Given the description of an element on the screen output the (x, y) to click on. 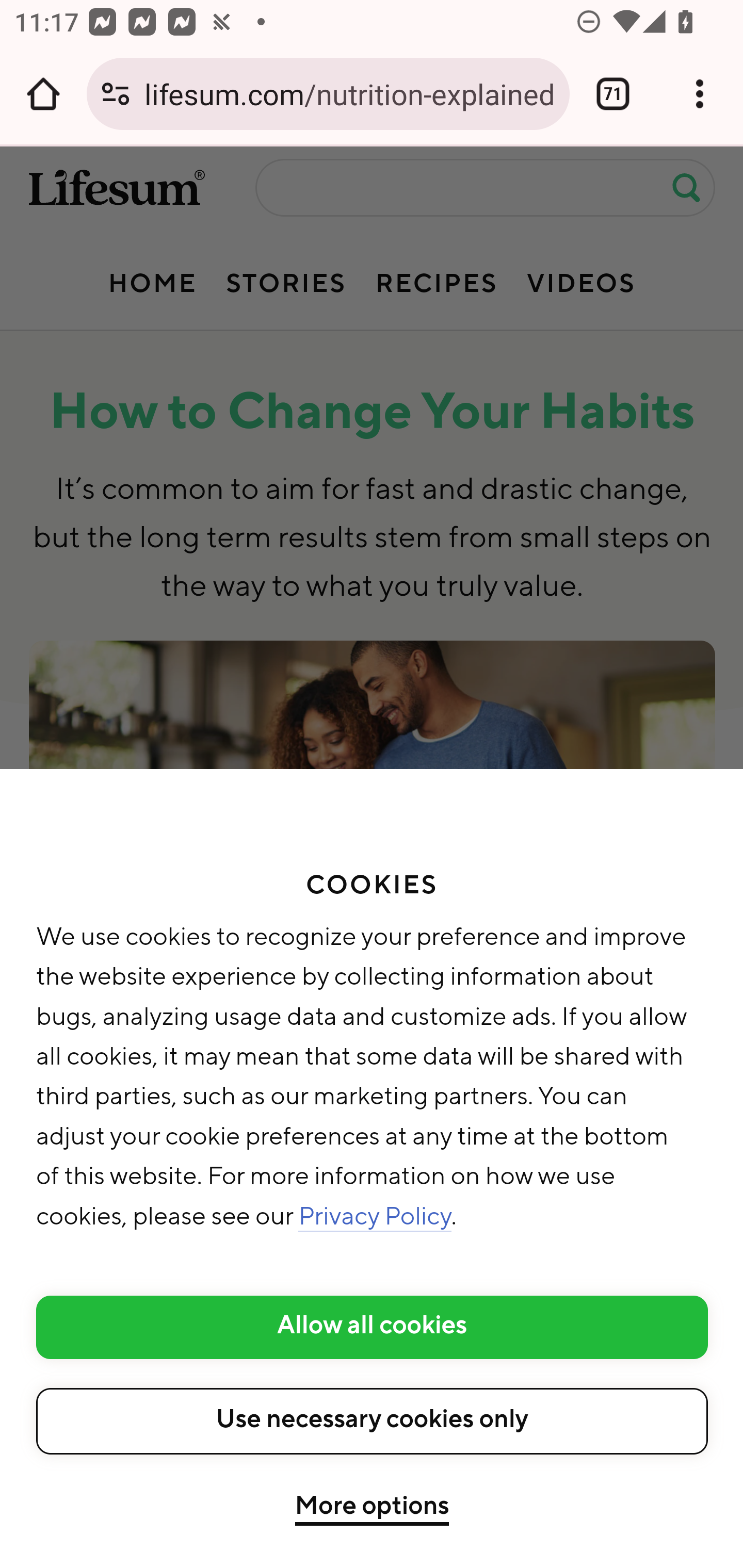
Open the home page (43, 93)
Connection is secure (115, 93)
Switch or close tabs (612, 93)
Customize and control Google Chrome (699, 93)
Privacy Policy (375, 1218)
Allow all cookies (372, 1326)
Use necessary cookies only (372, 1420)
More options (371, 1509)
